Given the description of an element on the screen output the (x, y) to click on. 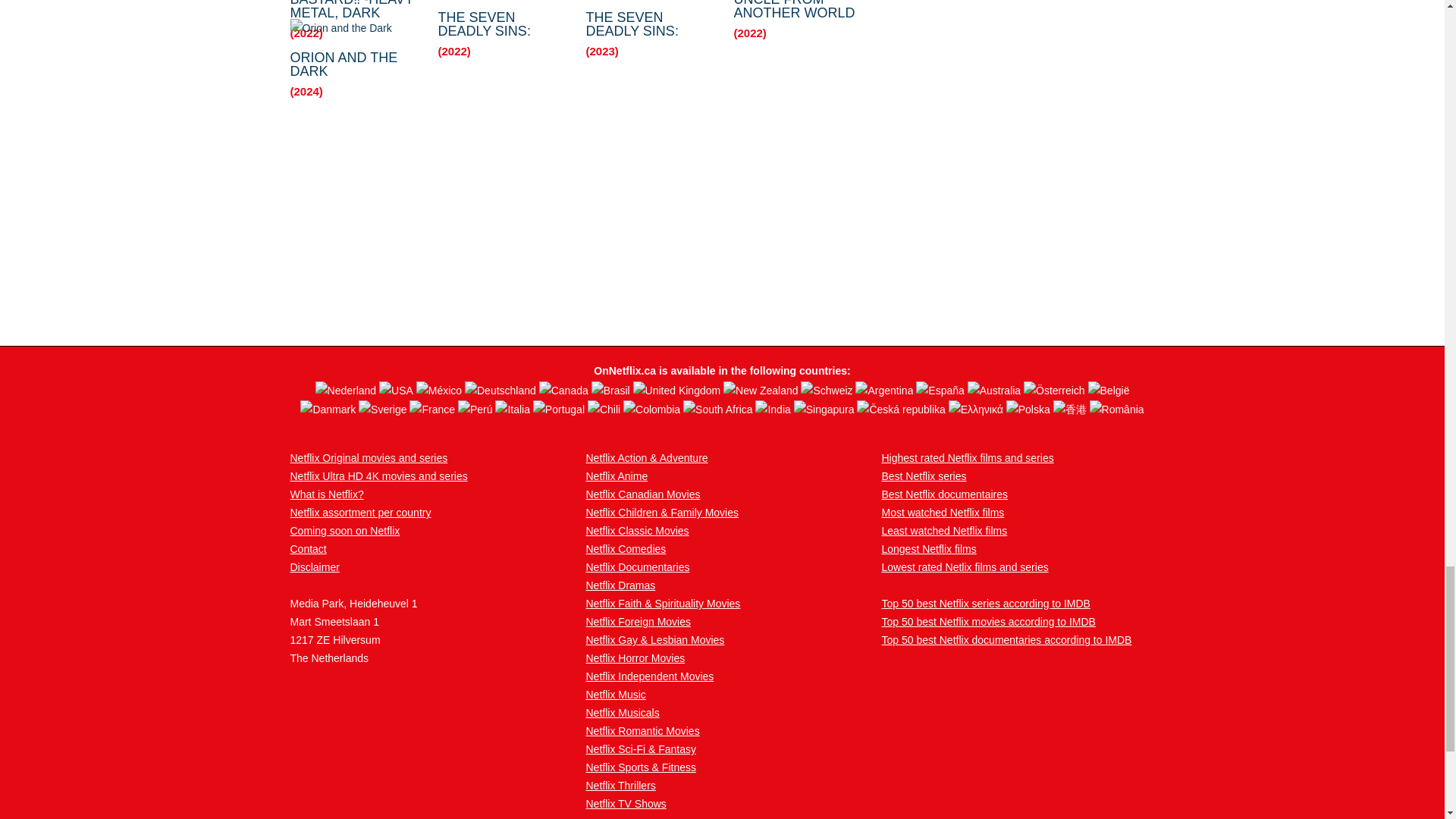
Orion and the Dark (351, 27)
Nederland (347, 388)
USA (397, 388)
